Given the description of an element on the screen output the (x, y) to click on. 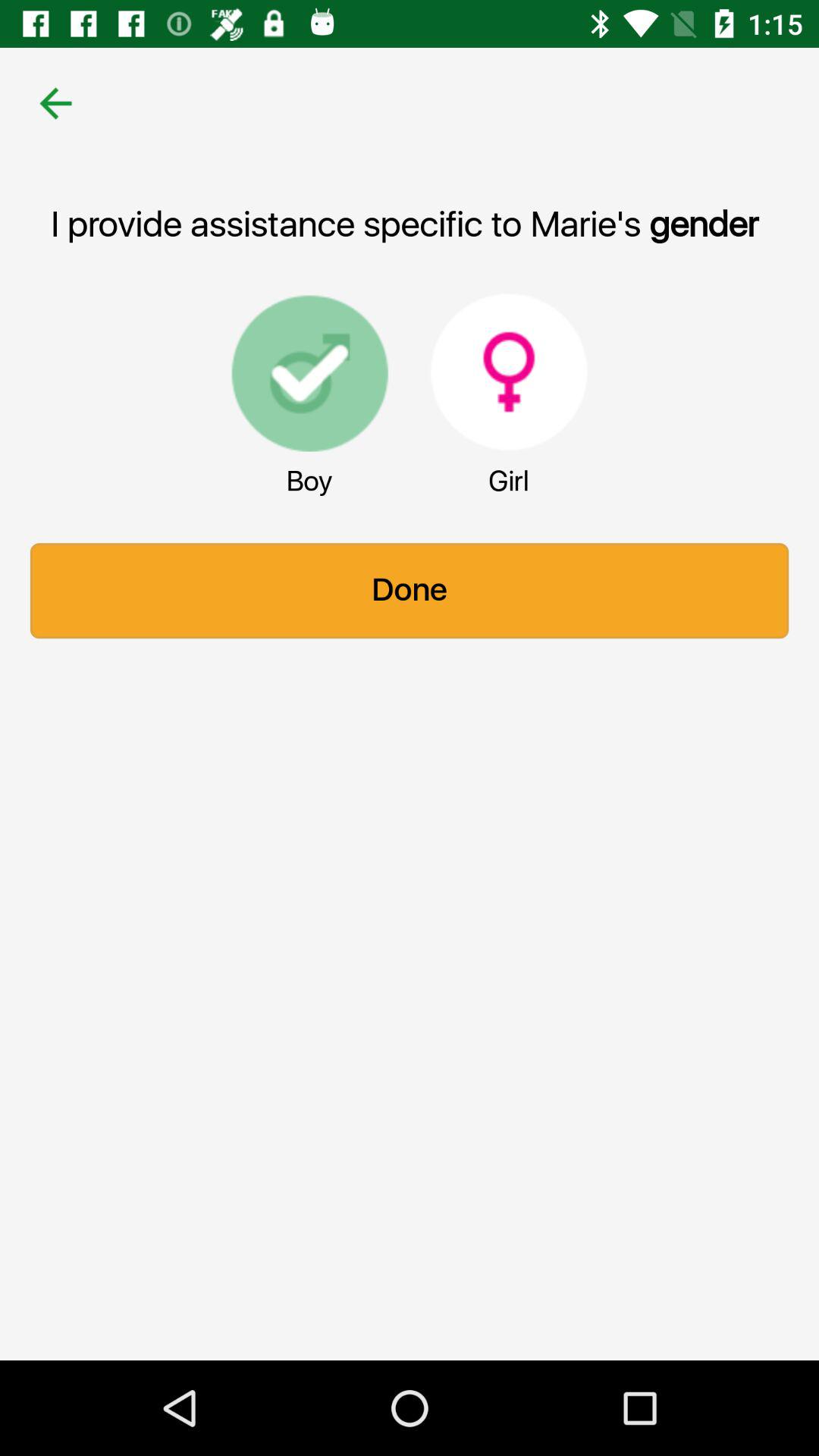
click the done icon (409, 590)
